Given the description of an element on the screen output the (x, y) to click on. 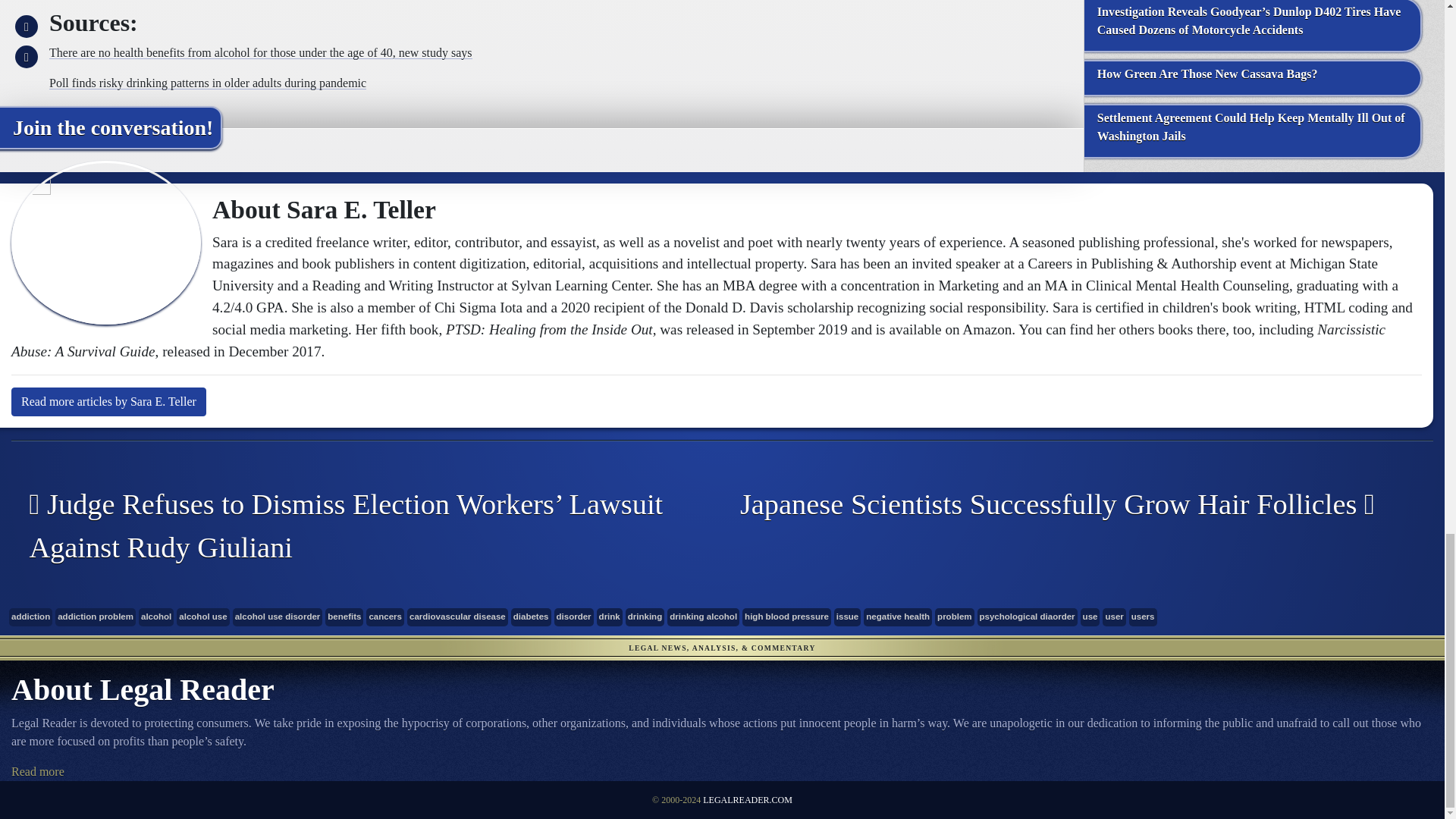
cancers (385, 616)
Read more articles by Sara E. Teller (108, 401)
alcohol (155, 616)
Japanese Scientists Successfully Grow Hair Follicles  (1066, 505)
addiction (30, 616)
benefits (343, 616)
alcohol use (202, 616)
Read more articles by Sara E. Teller (108, 401)
alcohol use disorder (277, 616)
addiction problem (95, 616)
